Given the description of an element on the screen output the (x, y) to click on. 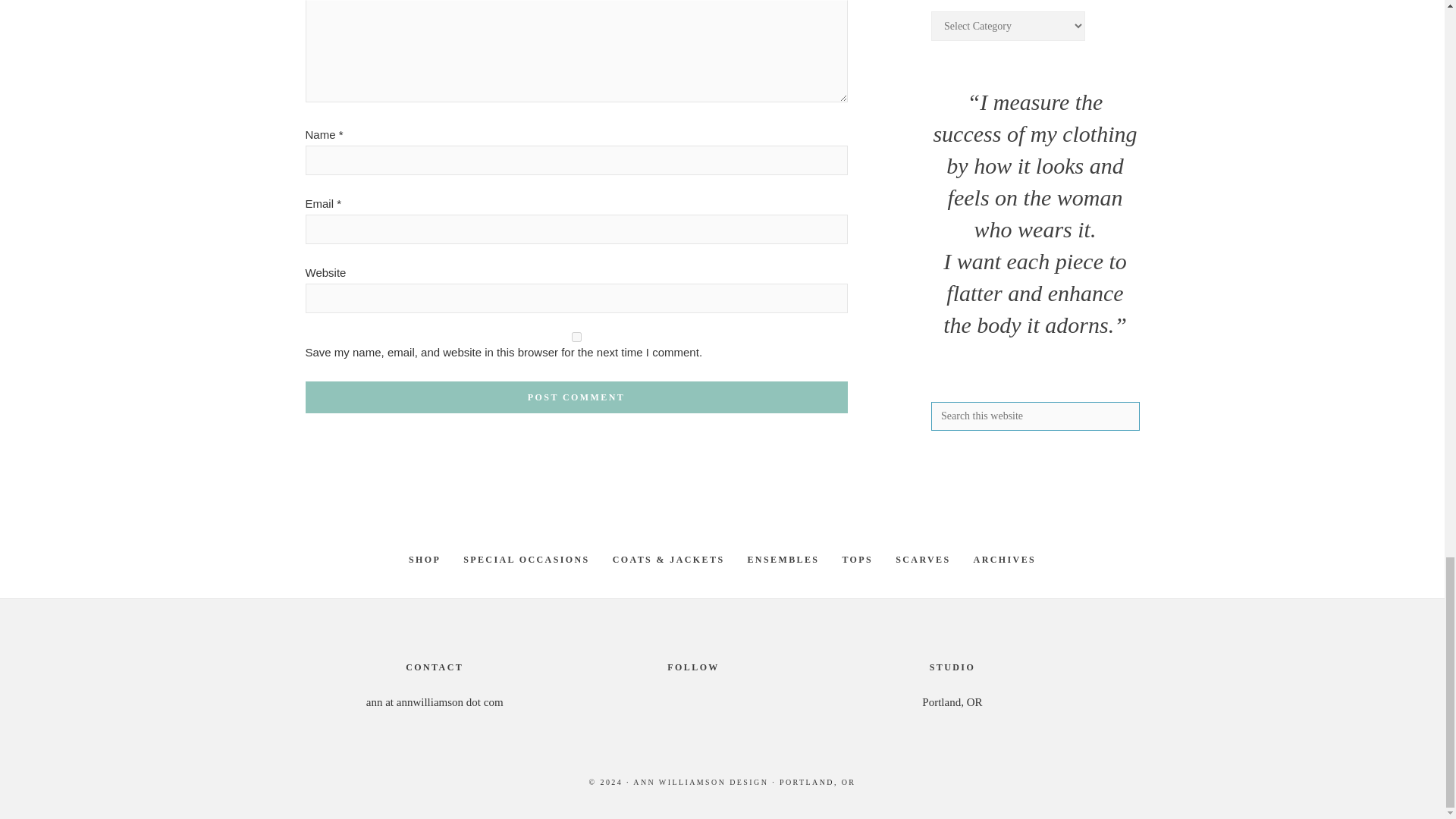
Post Comment (575, 397)
yes (575, 337)
